Given the description of an element on the screen output the (x, y) to click on. 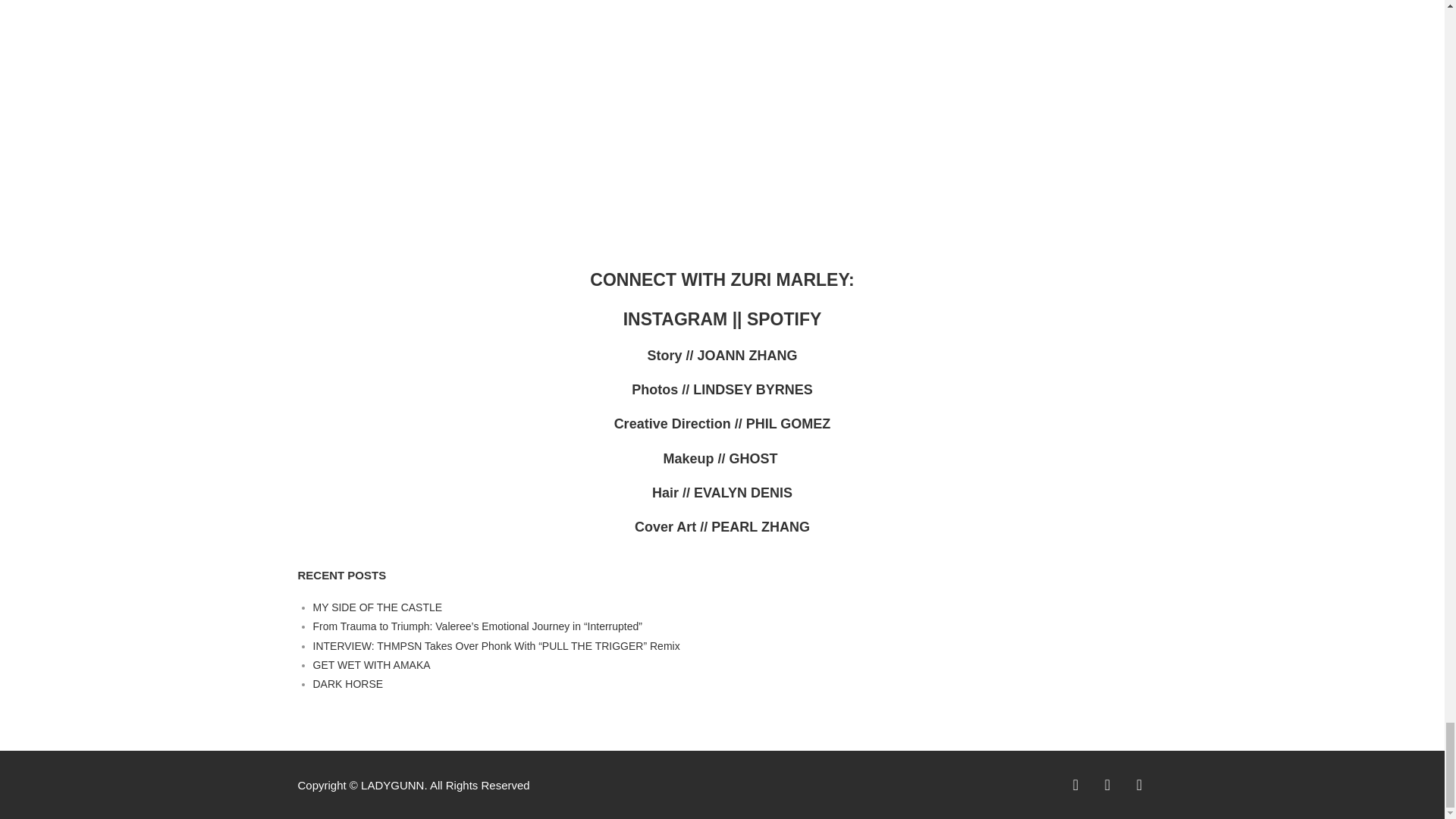
PHIL GOMEZ (788, 423)
MY SIDE OF THE CASTLE (377, 607)
INSTAGRAM (677, 319)
LINDSEY BYRNES (752, 389)
GHOST  (755, 458)
SPOTIFY (783, 319)
GET WET WITH AMAKA (371, 664)
EVALYN DENIS (743, 492)
JOANN ZHANG (747, 355)
